Given the description of an element on the screen output the (x, y) to click on. 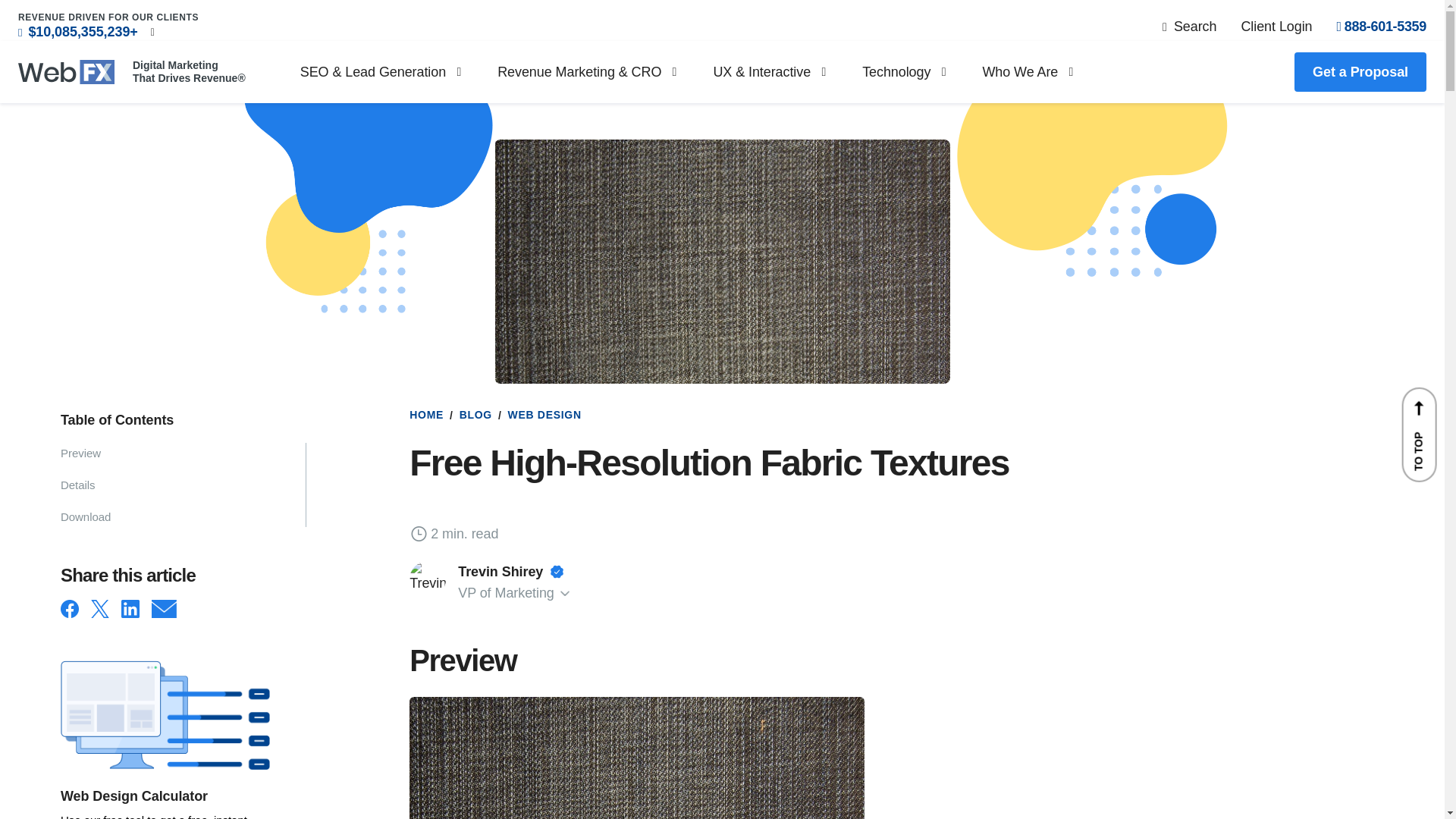
888-601-5359 (1381, 26)
Search (1189, 26)
Client Login (1275, 26)
